Given the description of an element on the screen output the (x, y) to click on. 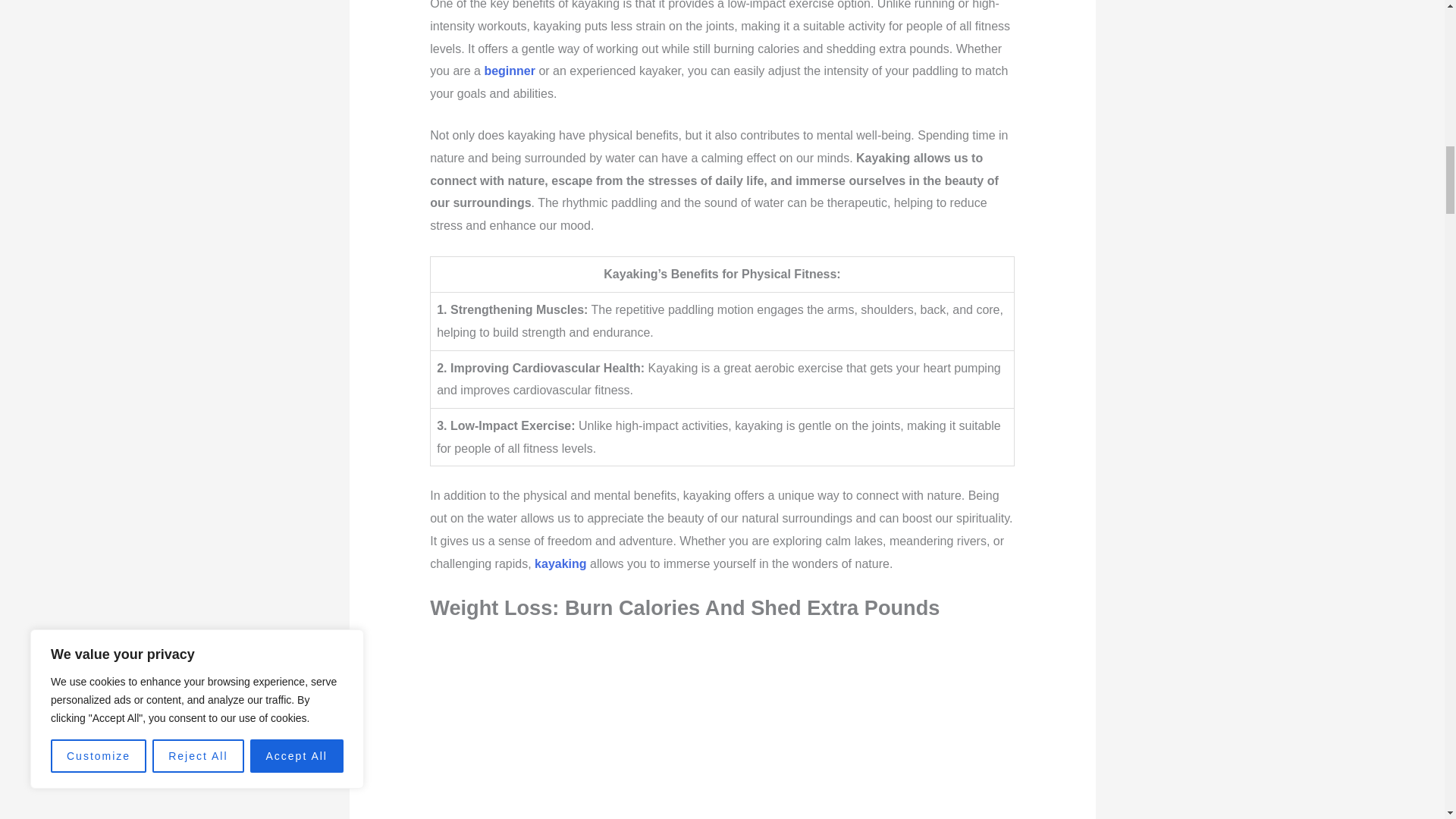
kayaking (560, 562)
beginner (509, 70)
